Given the description of an element on the screen output the (x, y) to click on. 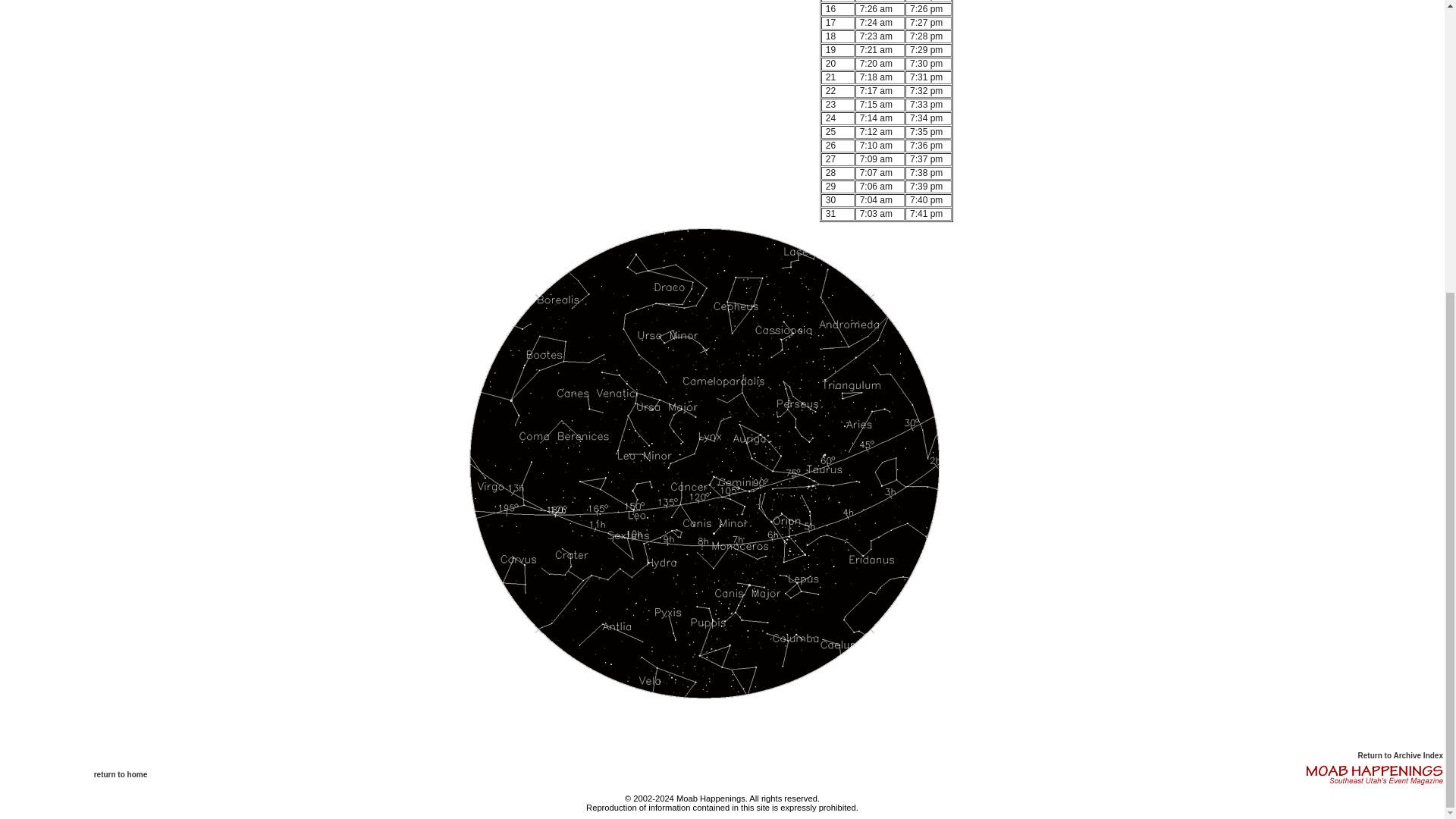
Return to Archive Index (1400, 755)
return to home (121, 774)
